Given the description of an element on the screen output the (x, y) to click on. 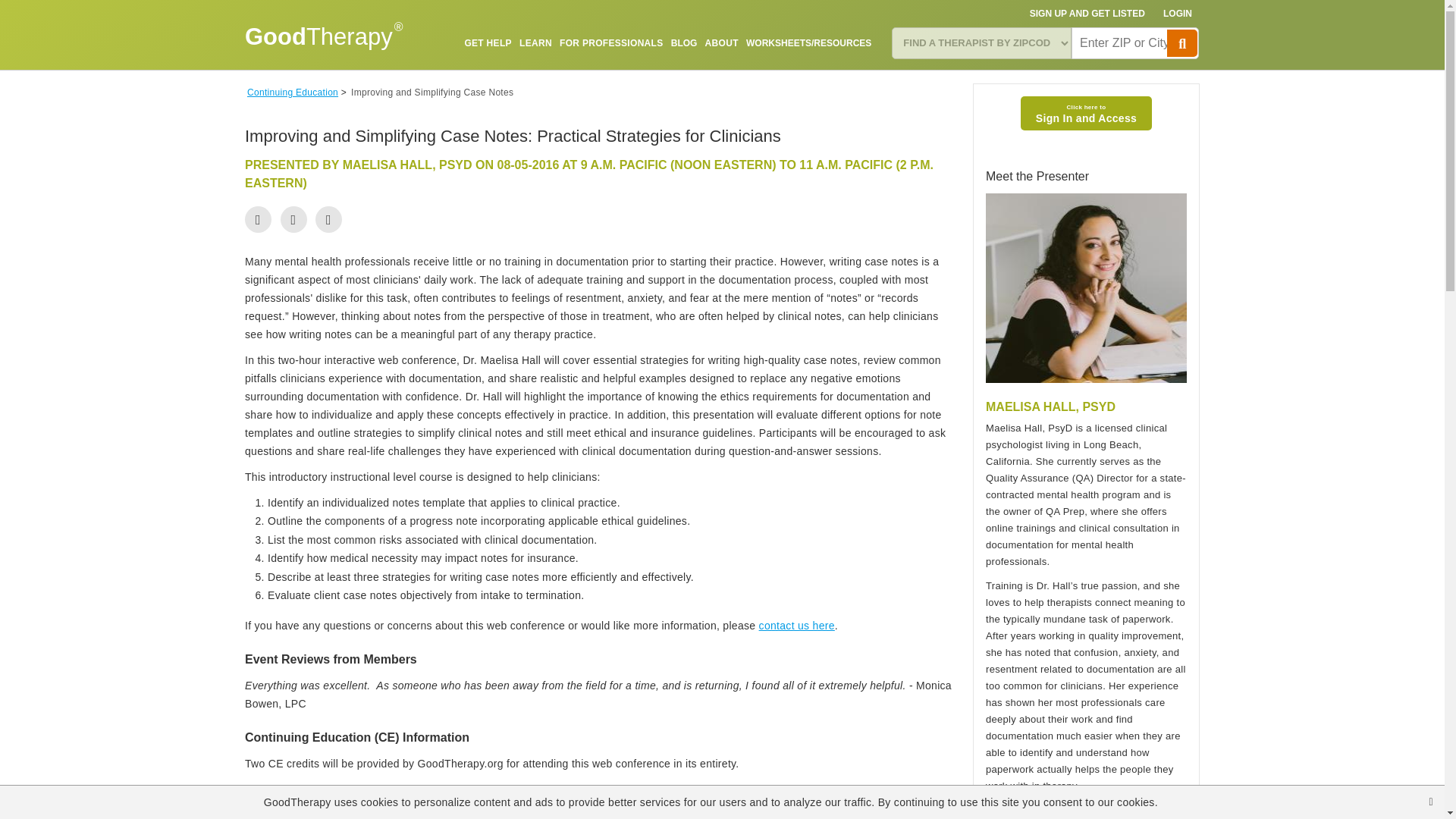
P (1181, 42)
LOGIN (1177, 13)
SIGN UP AND GET LISTED (1087, 13)
BLOG (684, 42)
NEWSLETTER (840, 77)
